Given the description of an element on the screen output the (x, y) to click on. 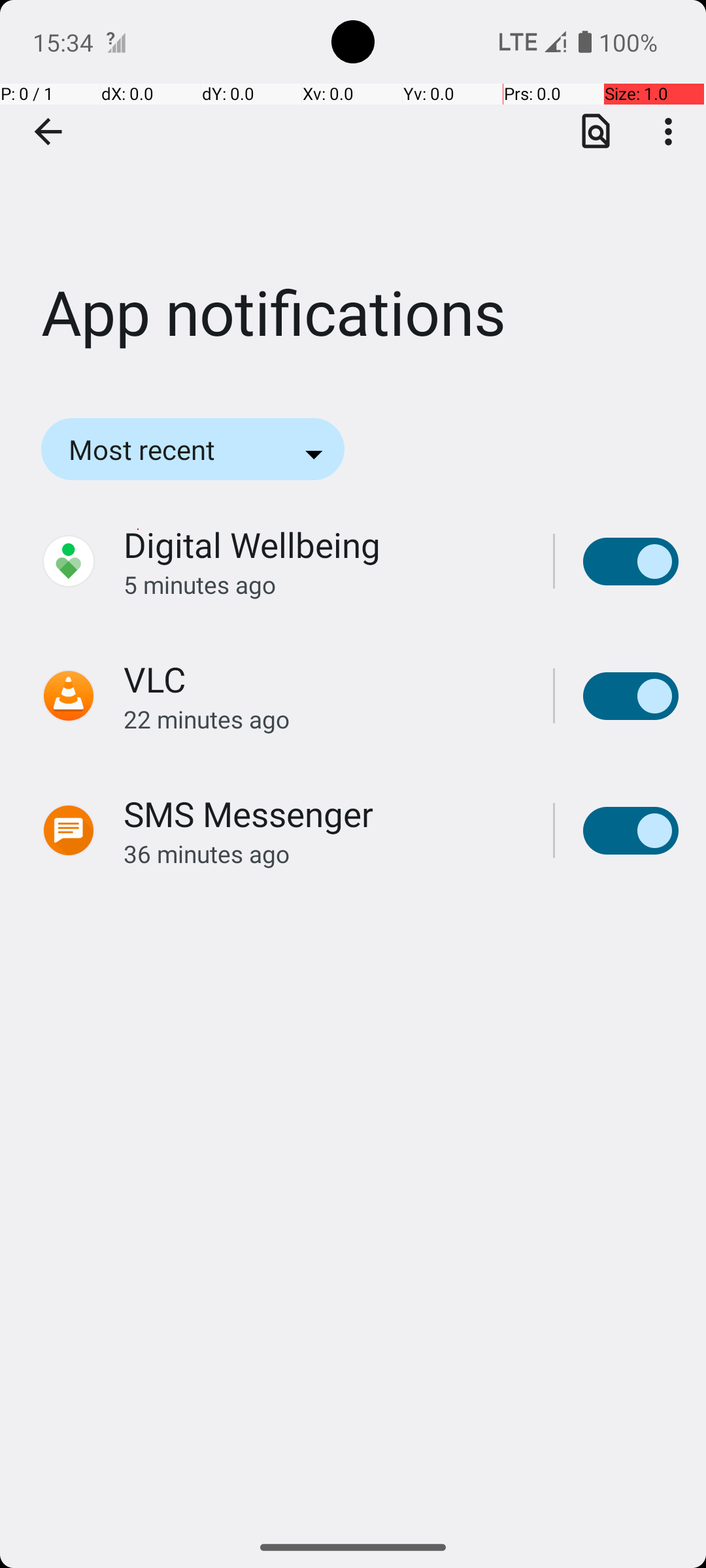
App notifications Element type: android.widget.FrameLayout (353, 195)
Most recent Element type: android.widget.TextView (159, 448)
5 minutes ago Element type: android.widget.TextView (324, 584)
22 minutes ago Element type: android.widget.TextView (324, 718)
36 minutes ago Element type: android.widget.TextView (324, 853)
